Given the description of an element on the screen output the (x, y) to click on. 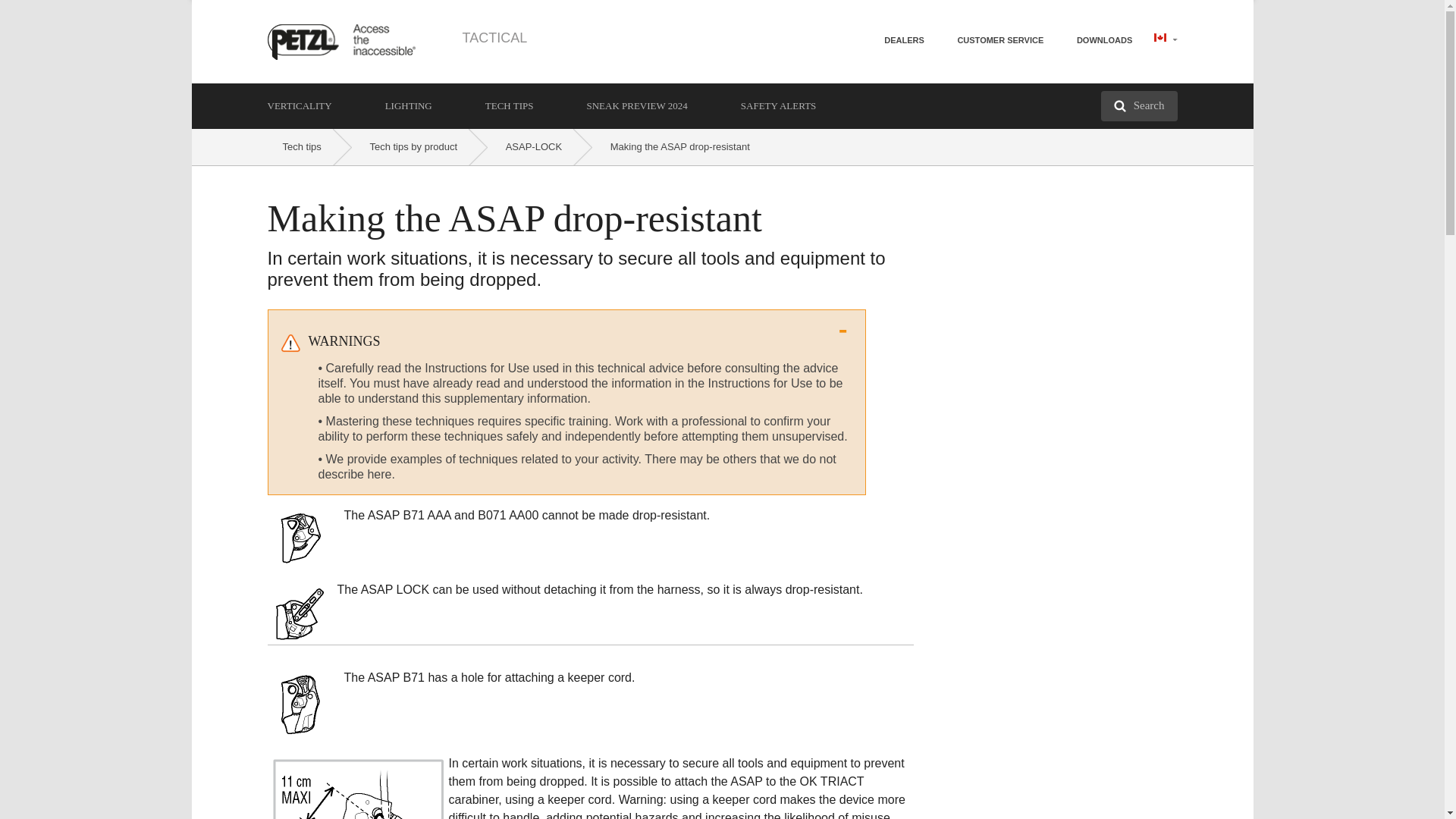
TACTICAL (495, 37)
DEALERS (903, 39)
DOWNLOADS (1104, 39)
CUSTOMER SERVICE (999, 39)
